Given the description of an element on the screen output the (x, y) to click on. 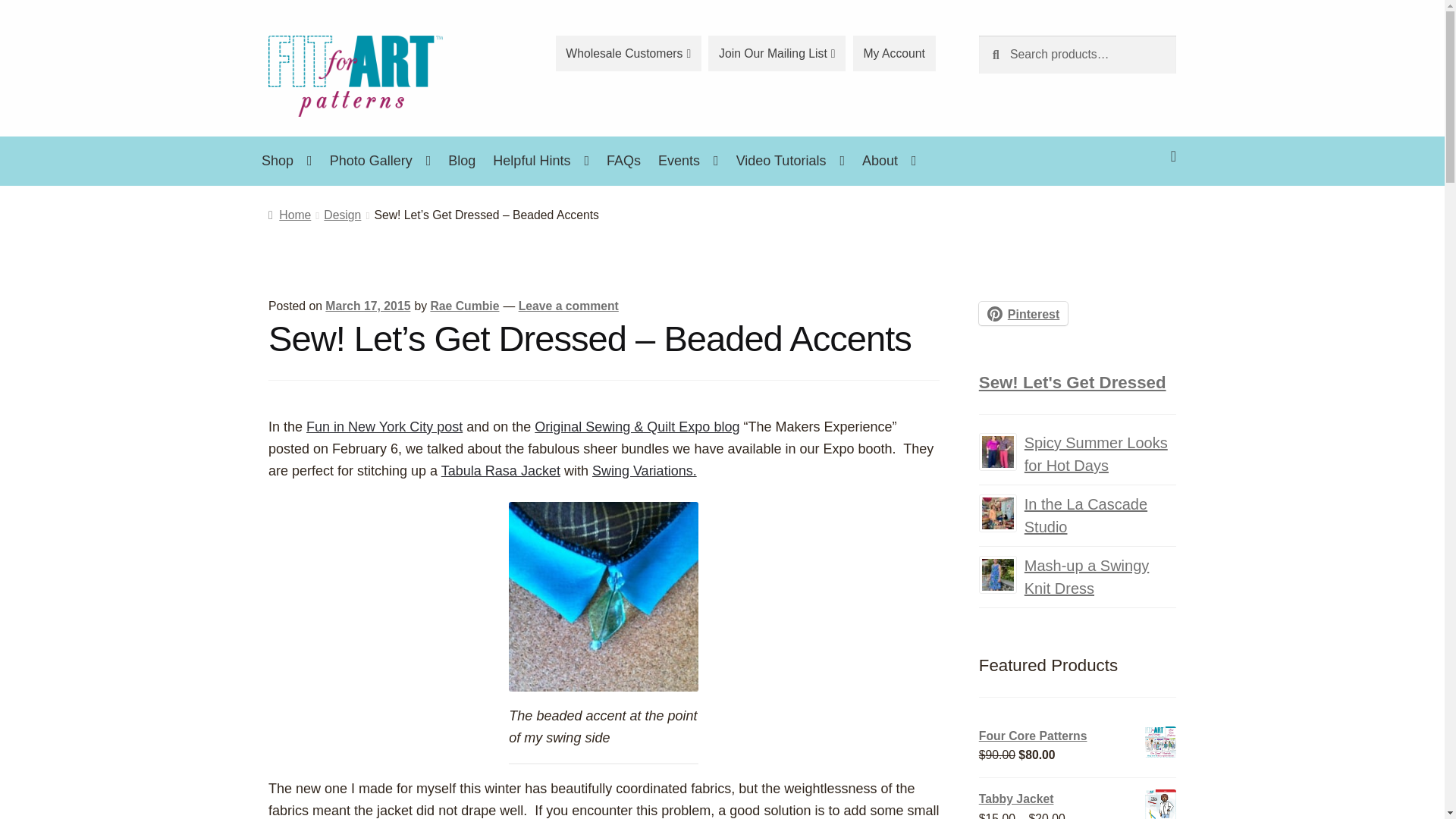
Wholesale Customers (628, 53)
Sew! Let's Get Dressed (1072, 382)
Photo Gallery (380, 160)
View your shopping cart (1077, 143)
My Account (894, 53)
Shop (286, 160)
Helpful Hints (540, 160)
Join Our Mailing List (776, 53)
